Given the description of an element on the screen output the (x, y) to click on. 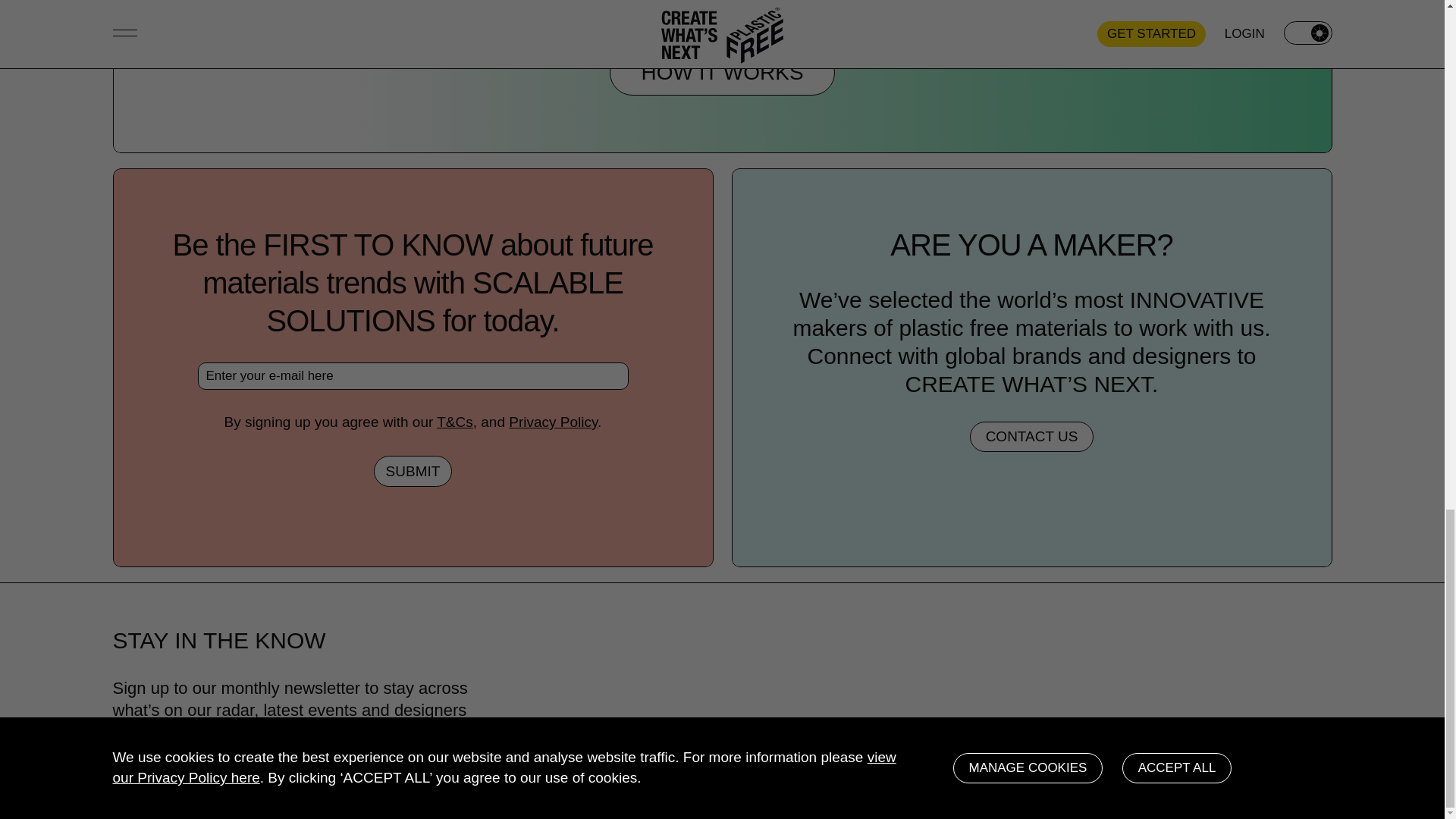
SUBMIT (413, 470)
SIGN UP (442, 781)
Privacy policy (564, 785)
Cookie policy (652, 785)
Subscriptions (643, 726)
Our mission (559, 726)
SUBMIT (413, 470)
About Us (749, 744)
SIGN UP (442, 781)
Demo (711, 726)
